Given the description of an element on the screen output the (x, y) to click on. 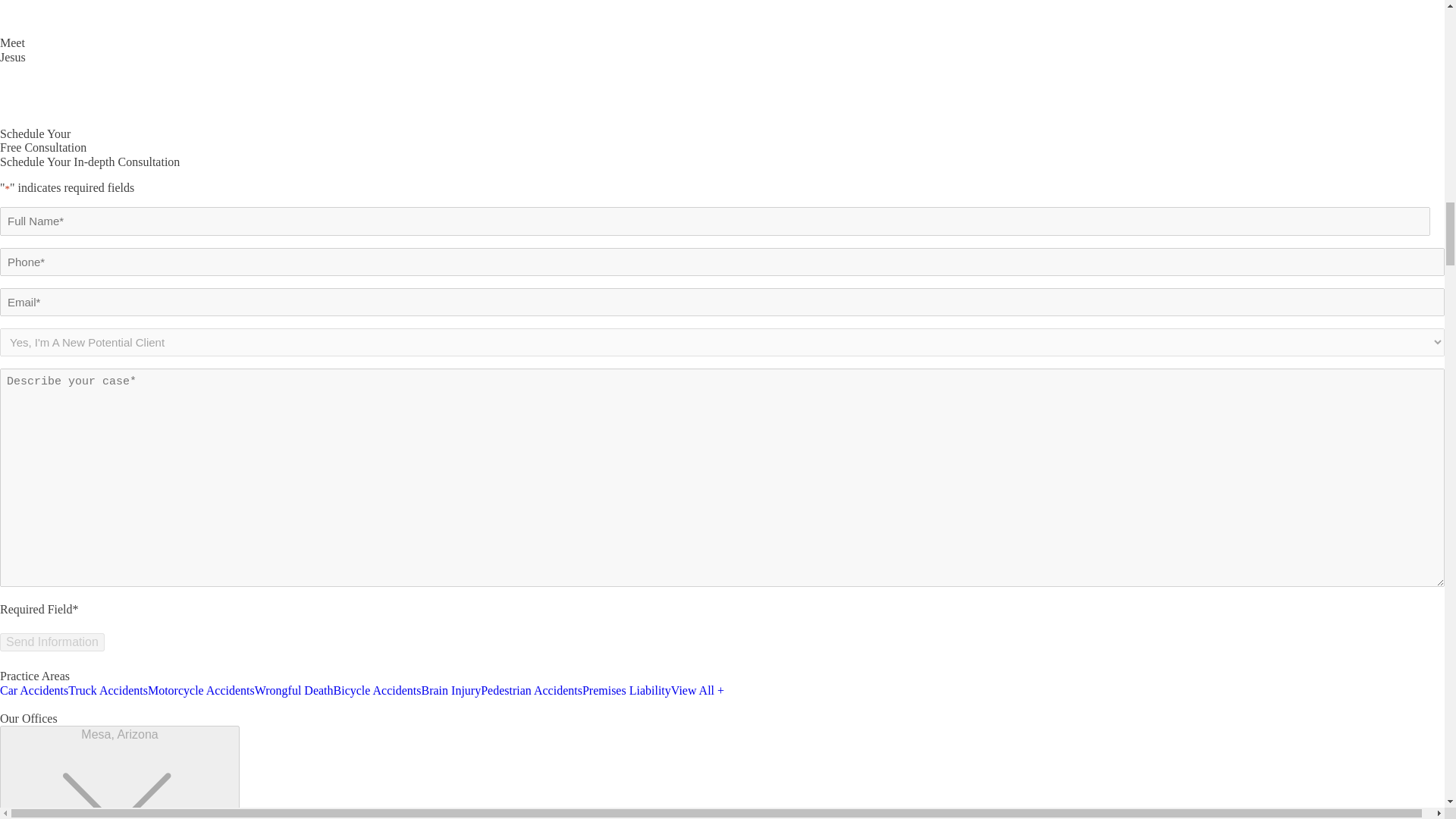
Send Information (52, 642)
